Given the description of an element on the screen output the (x, y) to click on. 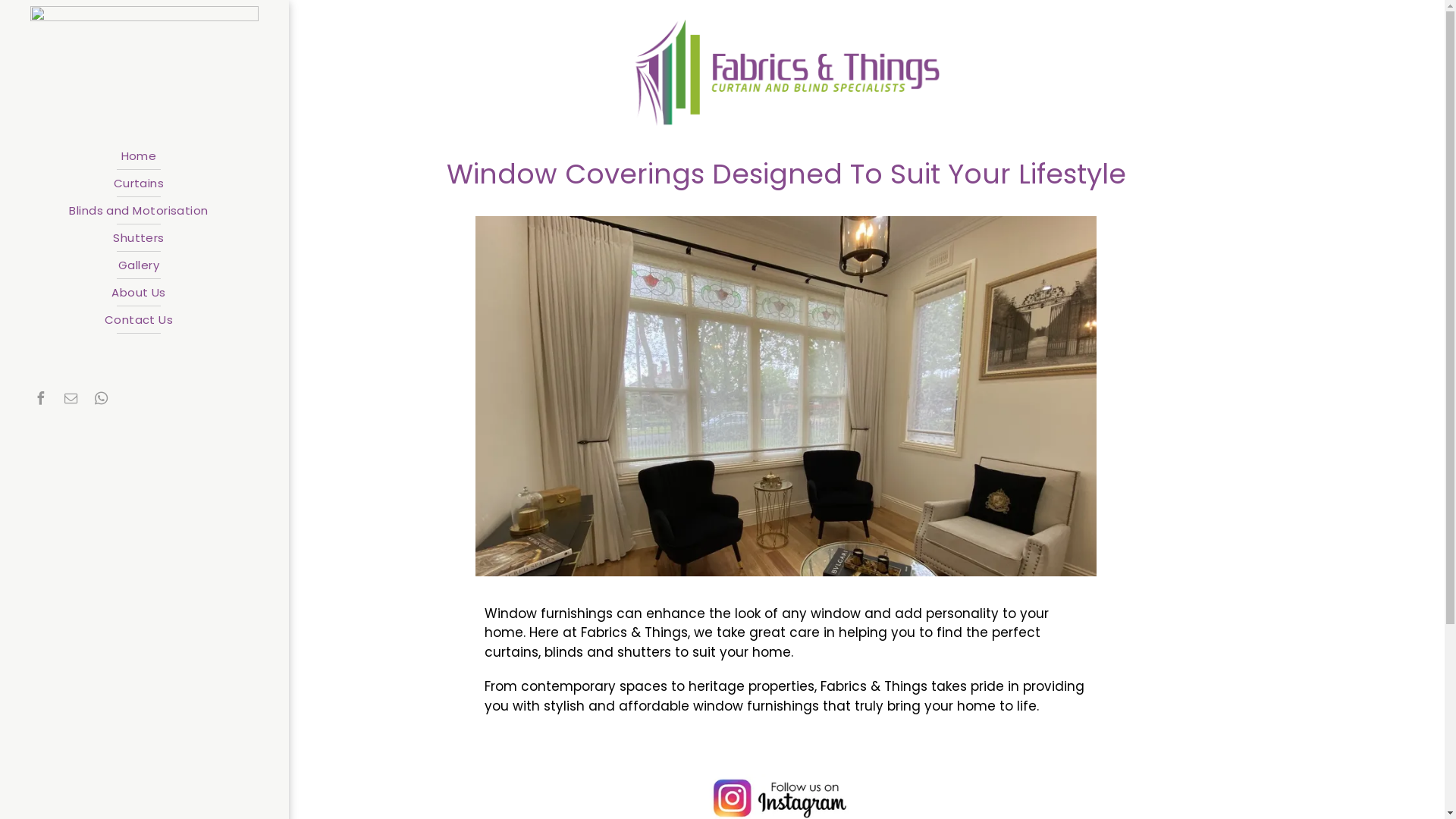
About Us Element type: text (138, 292)
Contact Us Element type: text (138, 319)
Gallery Element type: text (138, 264)
Shutters Element type: text (138, 237)
Curtains Element type: text (138, 182)
Home Element type: text (138, 155)
Blinds and Motorisation Element type: text (138, 210)
